Given the description of an element on the screen output the (x, y) to click on. 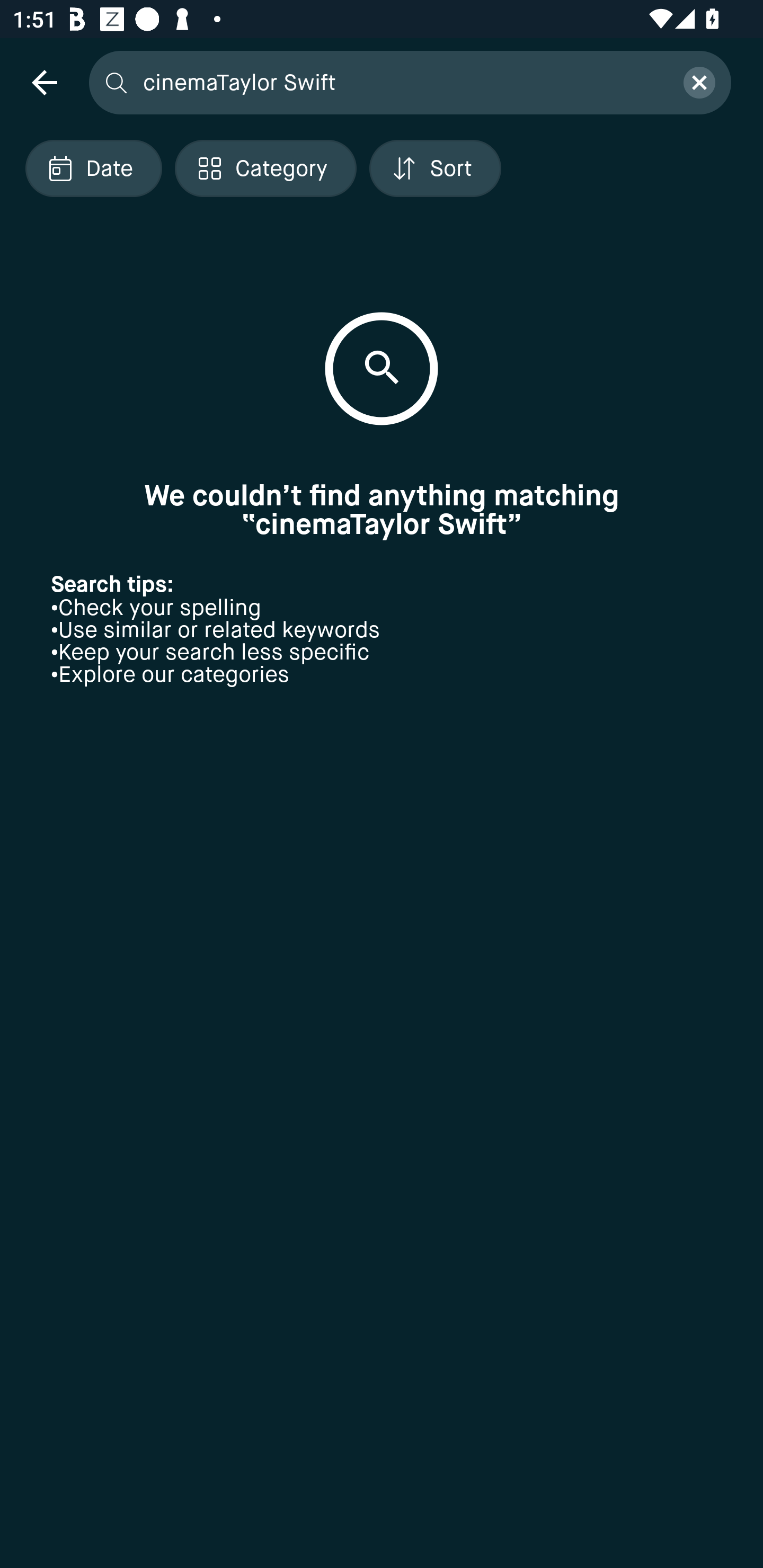
navigation icon (44, 81)
cinemaTaylor Swift (402, 81)
Localized description Date (93, 168)
Localized description Category (265, 168)
Localized description Sort (435, 168)
